Given the description of an element on the screen output the (x, y) to click on. 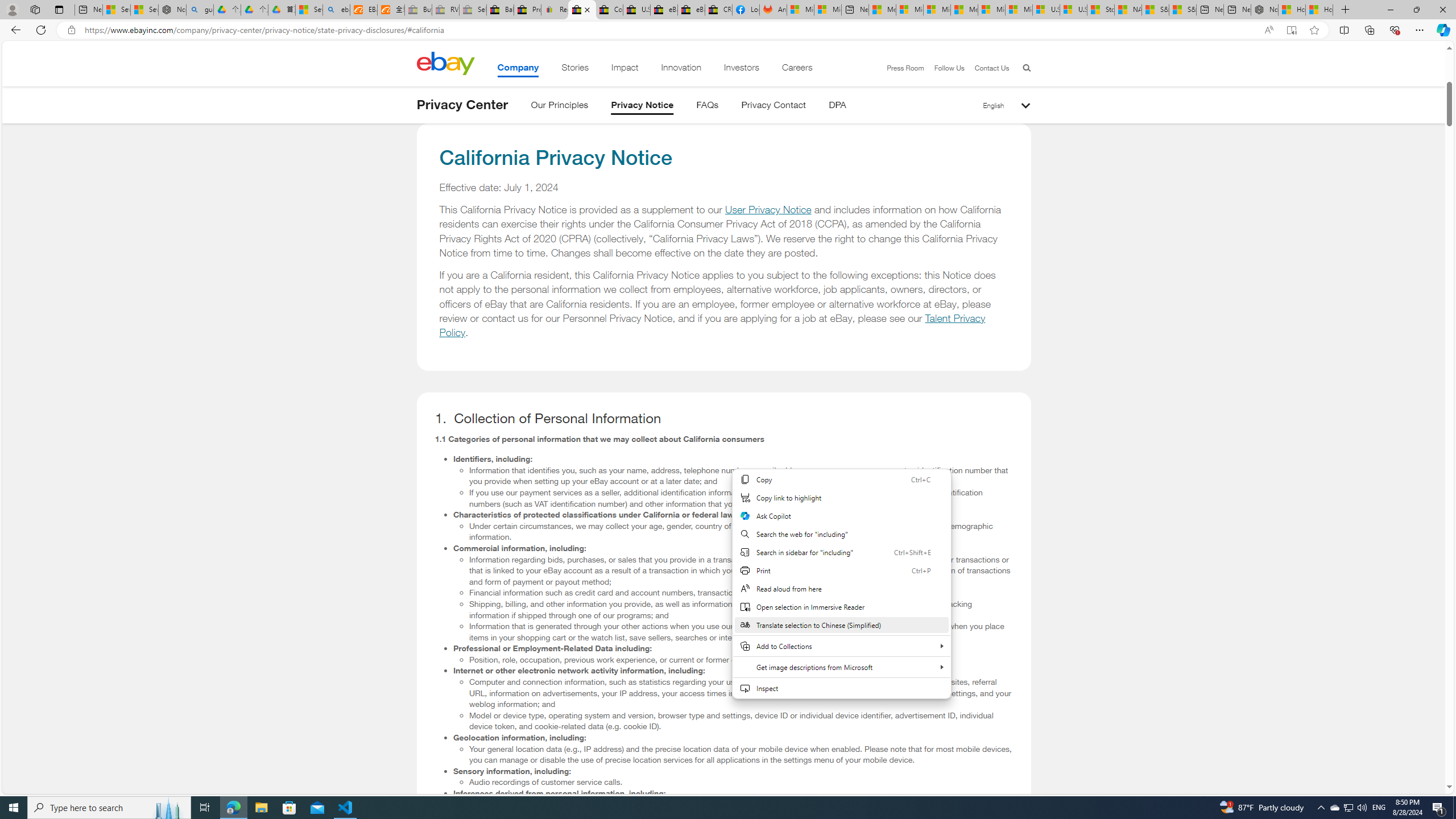
Sell worldwide with eBay - Sleeping (473, 9)
Read aloud from here (841, 588)
Print (841, 570)
Get image descriptions from Microsoft (841, 666)
Inspect (841, 687)
Add to Collections (841, 646)
Open selection in Immersive Reader (841, 606)
Privacy Notice (642, 107)
